Given the description of an element on the screen output the (x, y) to click on. 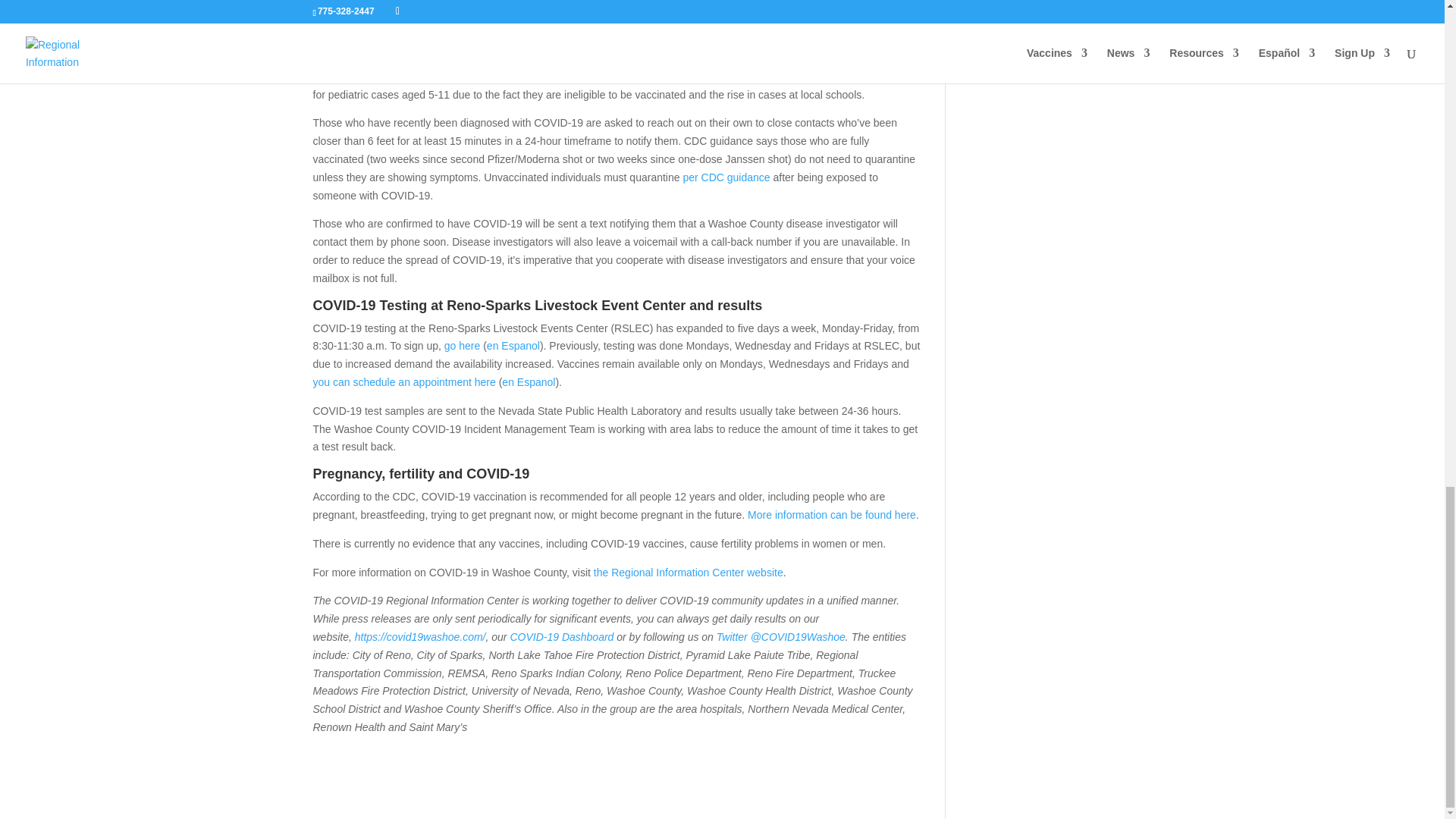
per CDC guidance (726, 177)
en Espanol (513, 345)
you can schedule an appointment here (404, 381)
go here (462, 345)
